Given the description of an element on the screen output the (x, y) to click on. 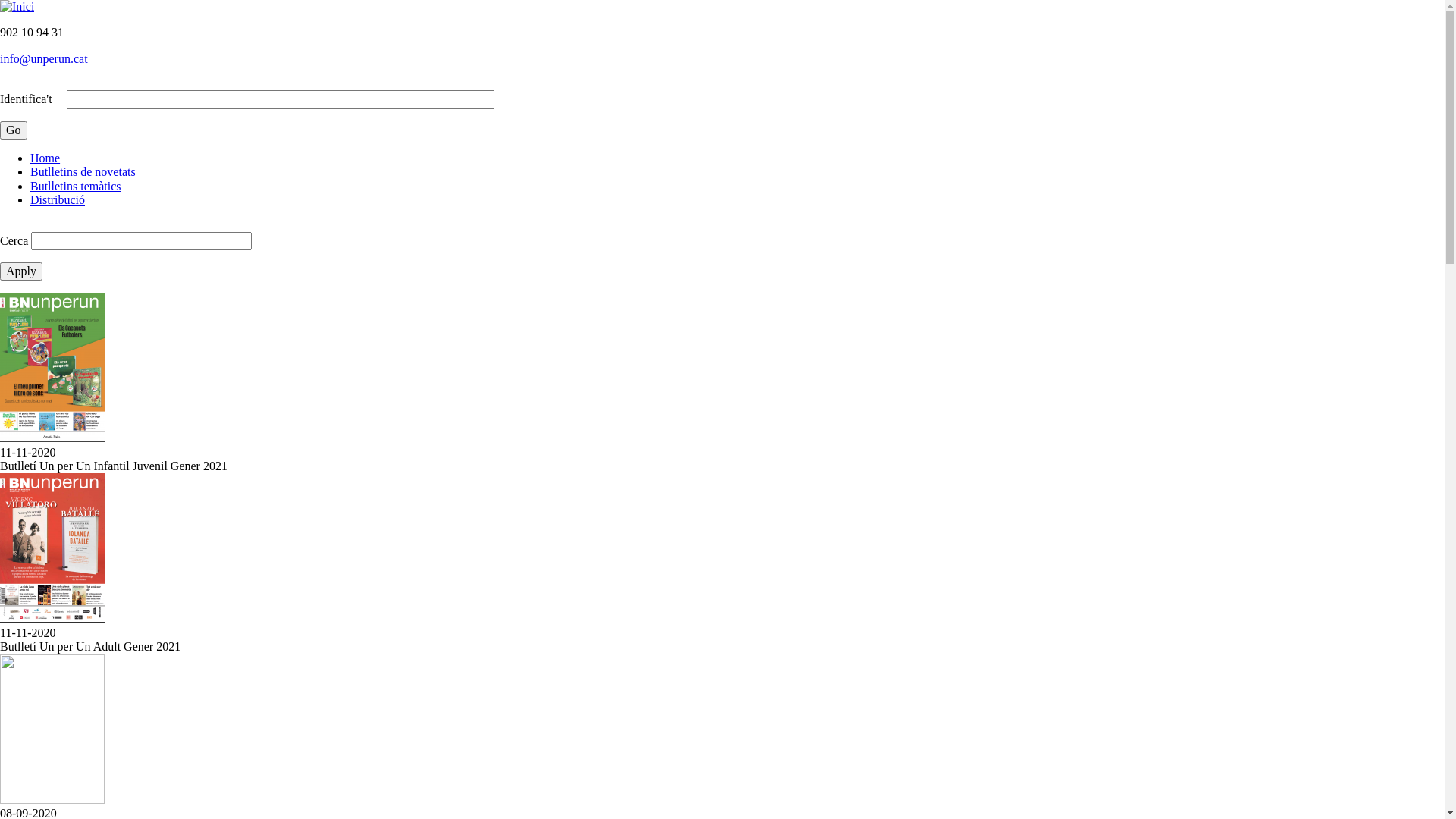
Apply Element type: text (21, 271)
Butlletins de novetats Element type: text (82, 171)
Home Element type: text (44, 157)
Go Element type: text (13, 130)
info@unperun.cat Element type: text (43, 58)
Inici Element type: hover (17, 6)
